Given the description of an element on the screen output the (x, y) to click on. 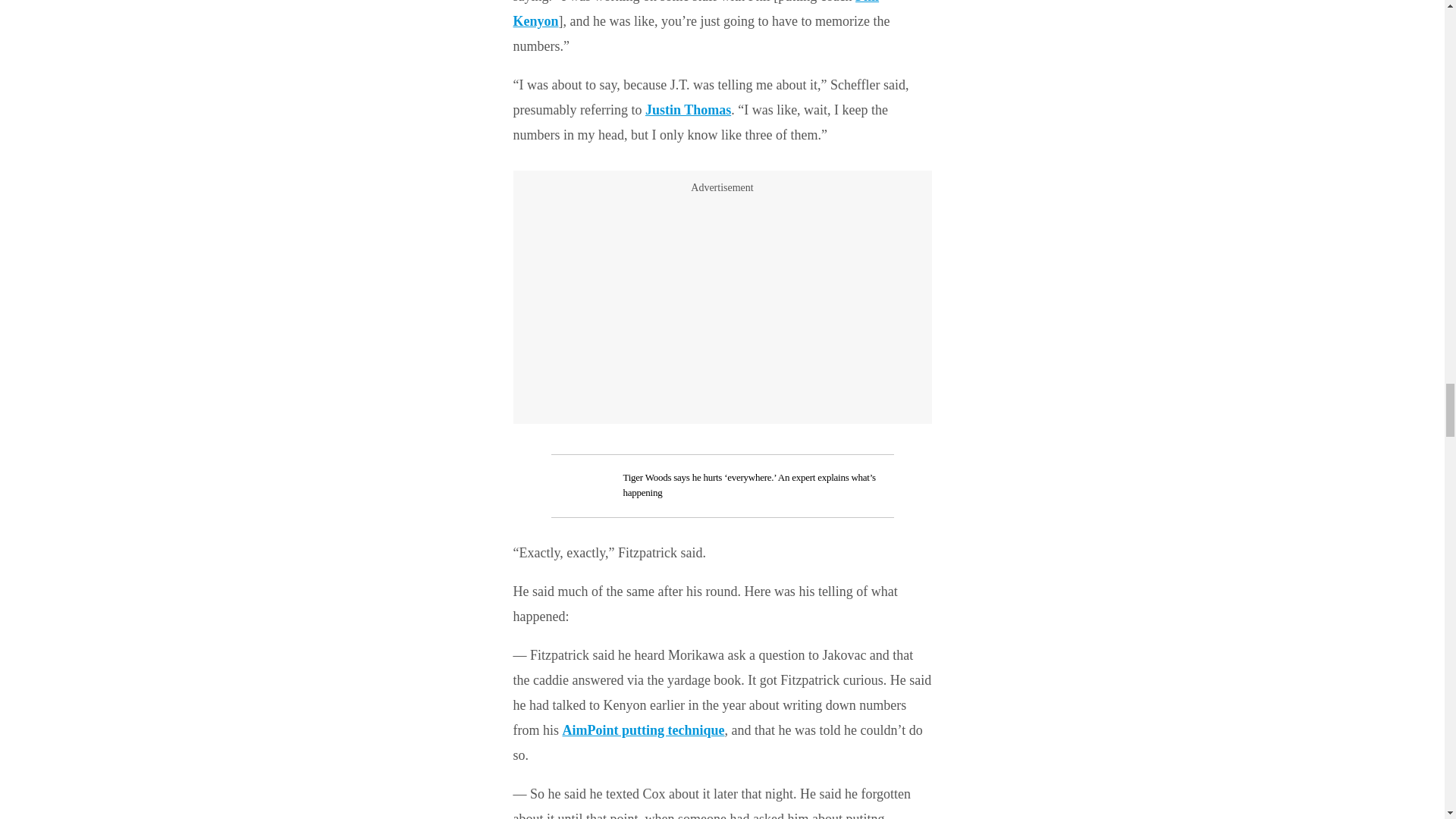
Justin Thomas (687, 109)
Phil Kenyon (695, 14)
AimPoint putting technique (643, 729)
